Given the description of an element on the screen output the (x, y) to click on. 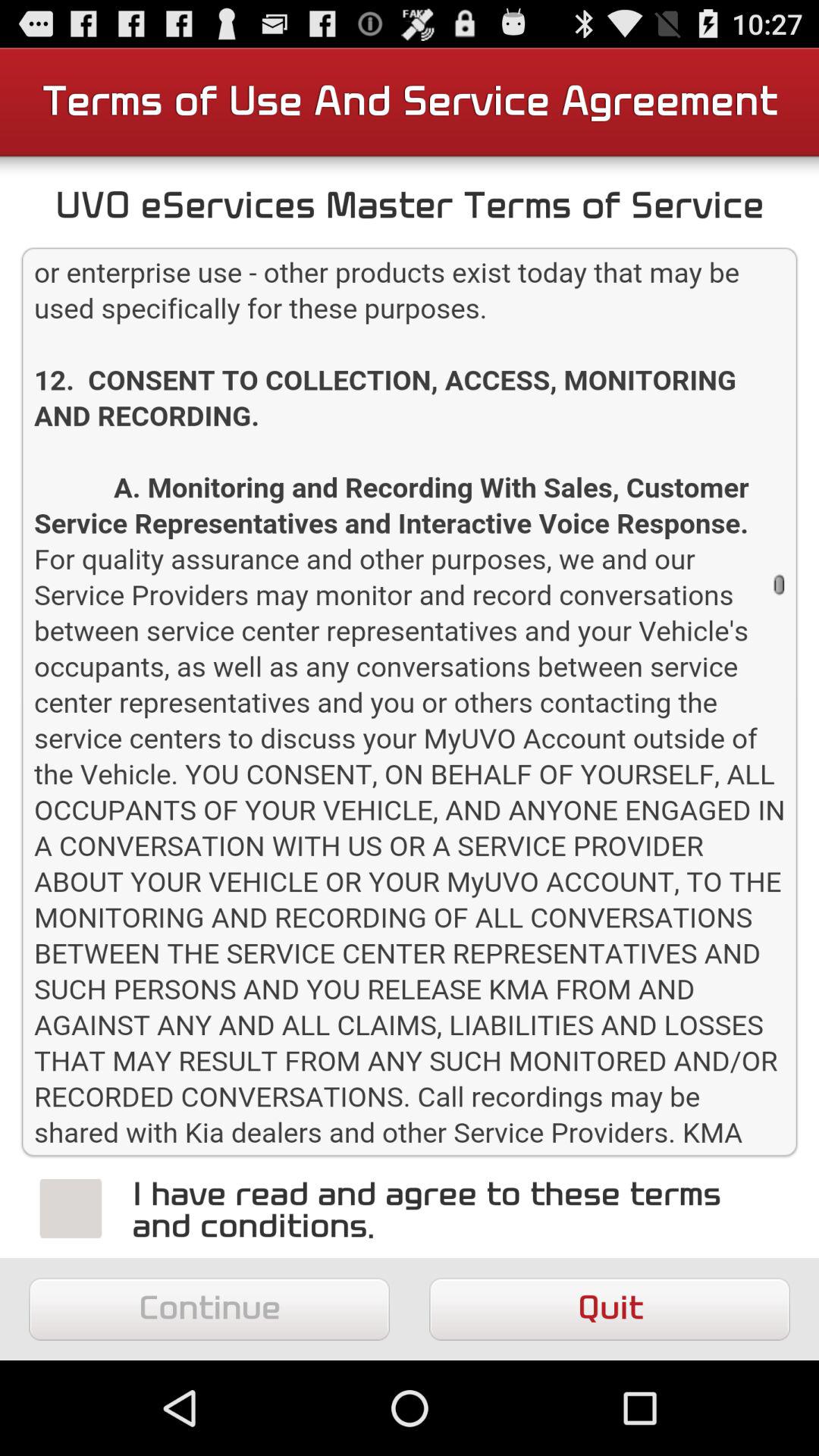
terms condition text (409, 701)
